Given the description of an element on the screen output the (x, y) to click on. 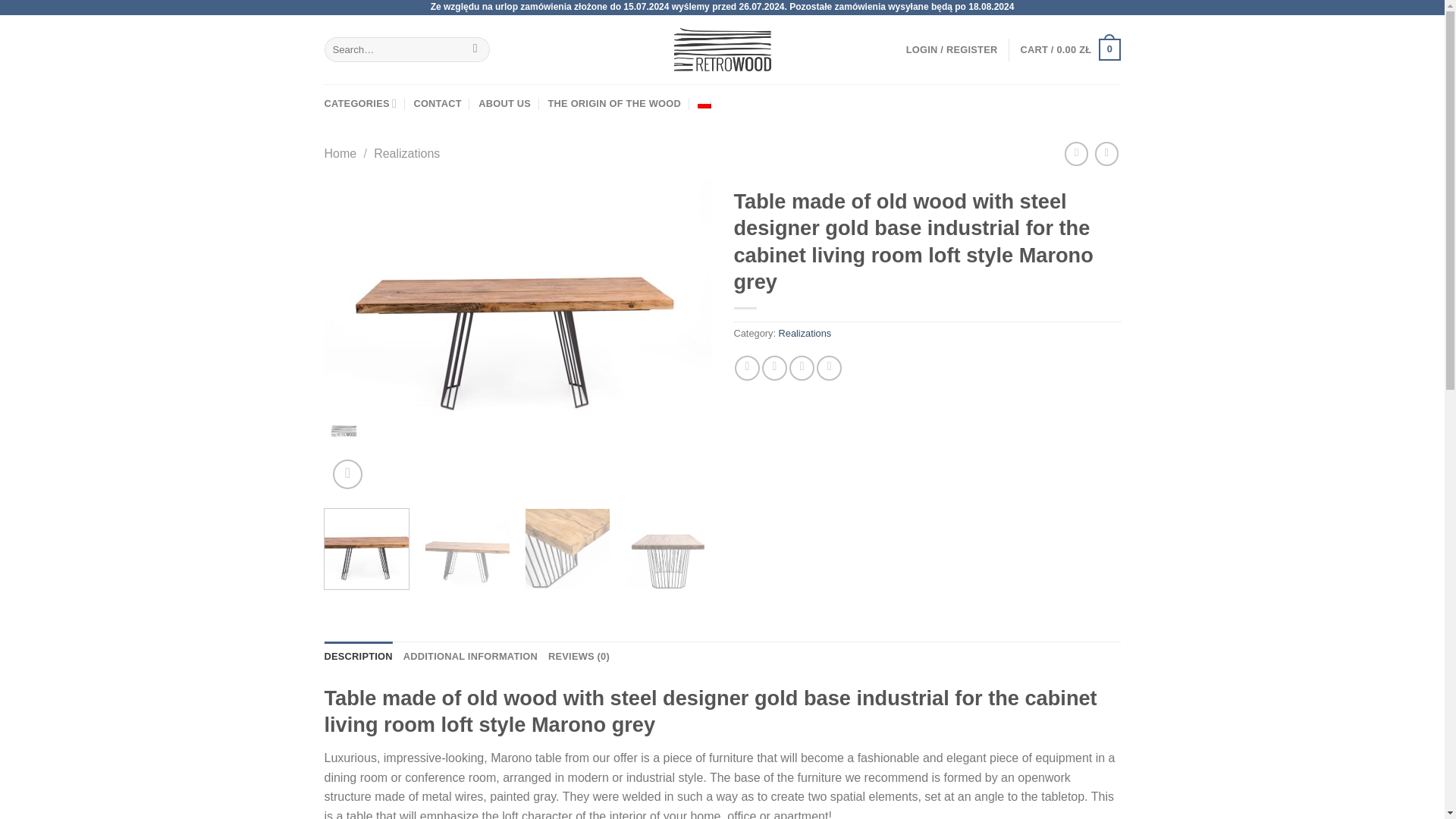
CATEGORIES (360, 103)
Share on Twitter (774, 367)
THE ORIGIN OF THE WOOD (614, 103)
Share on Facebook (747, 367)
Share on Tumblr (828, 367)
Home (340, 153)
Share on VKontakte (801, 367)
Cart (1069, 49)
ABOUT US (505, 103)
Zoom (347, 473)
Search (475, 49)
CONTACT (437, 103)
